Given the description of an element on the screen output the (x, y) to click on. 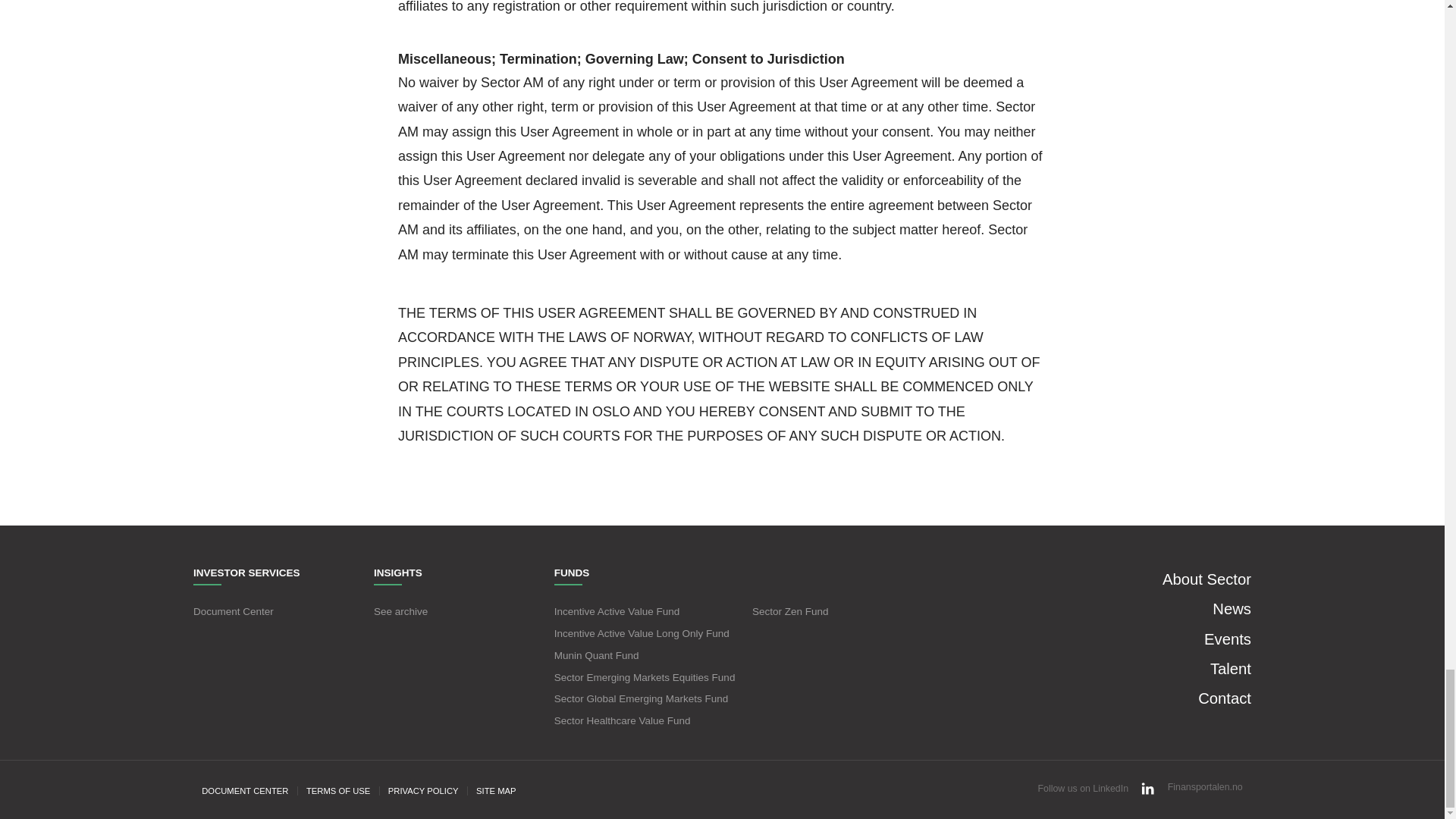
TERMS OF USE (339, 790)
Events (1227, 638)
About Sector (1205, 579)
Incentive Active Value Long Only Fund (641, 633)
Talent (1229, 668)
DOCUMENT CENTER (245, 790)
Document Center (233, 611)
Sector Emerging Markets Equities Fund (644, 677)
Munin Quant Fund (596, 655)
News (1231, 608)
